Given the description of an element on the screen output the (x, y) to click on. 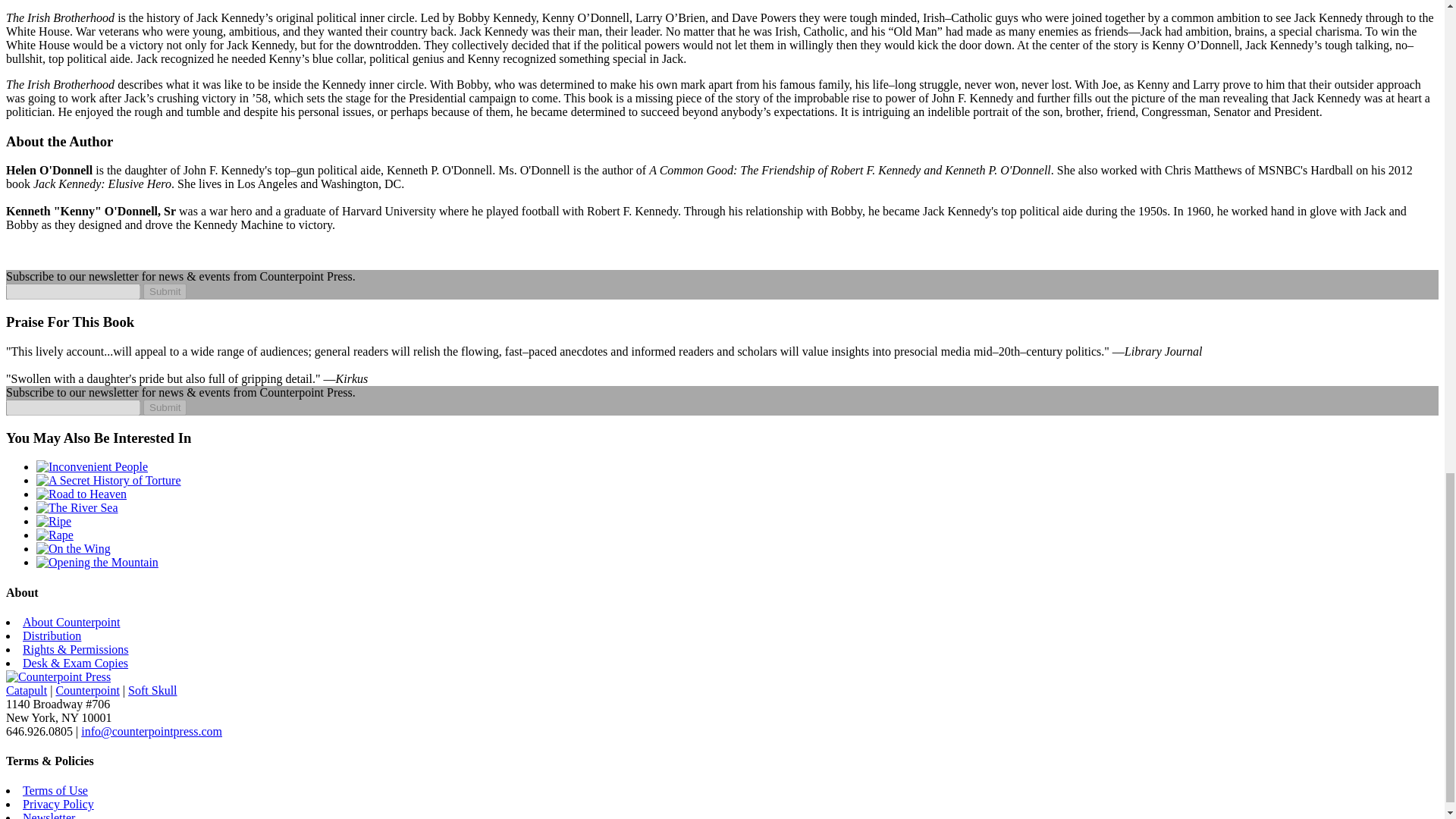
Submit (164, 407)
Submit (164, 291)
Submit (164, 407)
Submit (164, 291)
